Given the description of an element on the screen output the (x, y) to click on. 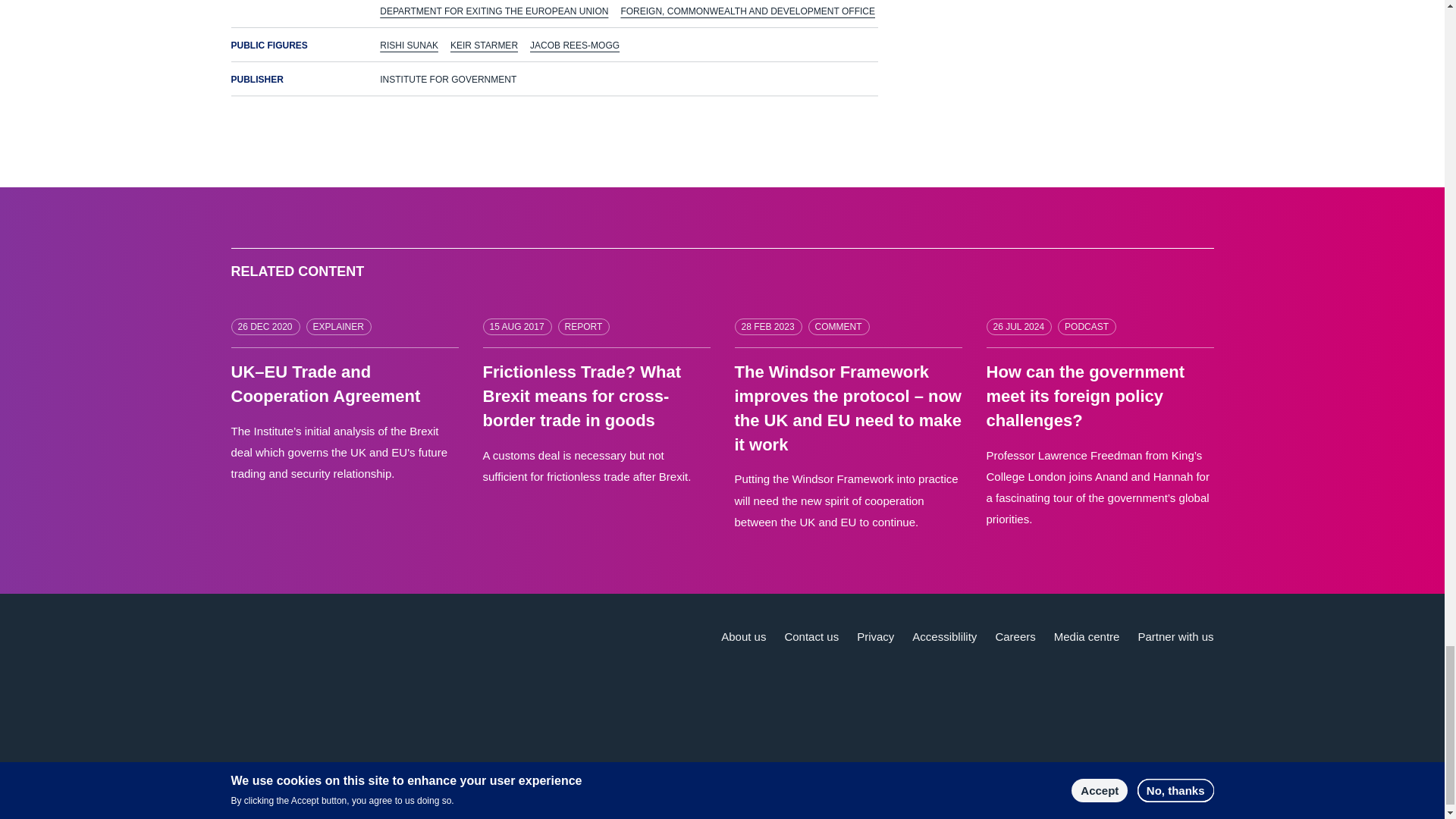
Visit IfG YouTube profile (1137, 782)
Visit IfG Instagram profile (1200, 782)
Visit IfG Facebook profile (1168, 782)
Return to the homepage (321, 653)
Visit IfG LinkedIn profile (1105, 782)
Visit IfG Twitter profile (1072, 782)
